Given the description of an element on the screen output the (x, y) to click on. 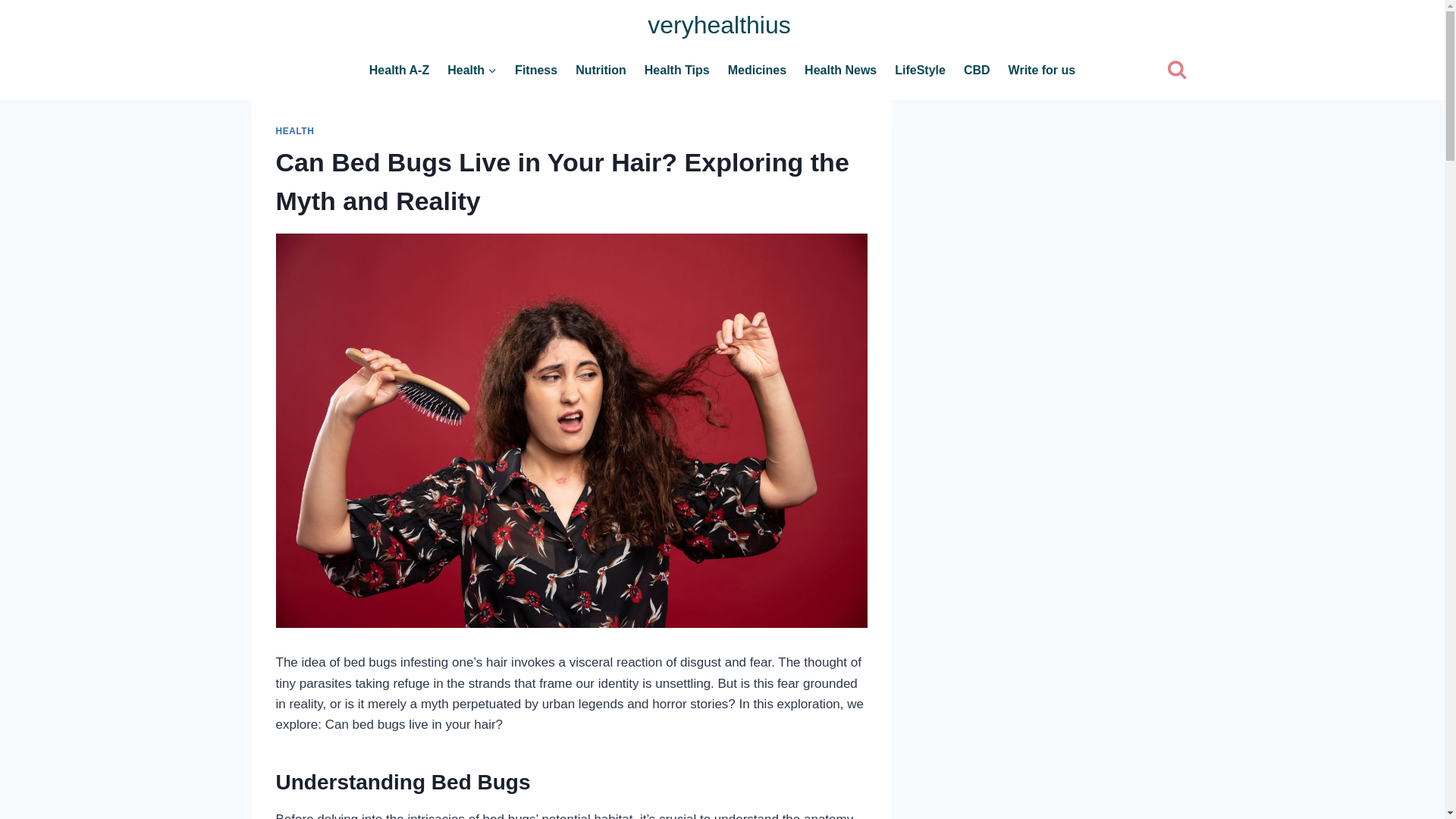
Nutrition (600, 69)
Fitness (535, 69)
LifeStyle (920, 69)
Medicines (756, 69)
Health (471, 69)
Health A-Z (398, 69)
veryhealthius (718, 24)
Write for us (1041, 69)
HEALTH (295, 131)
Health News (839, 69)
